Given the description of an element on the screen output the (x, y) to click on. 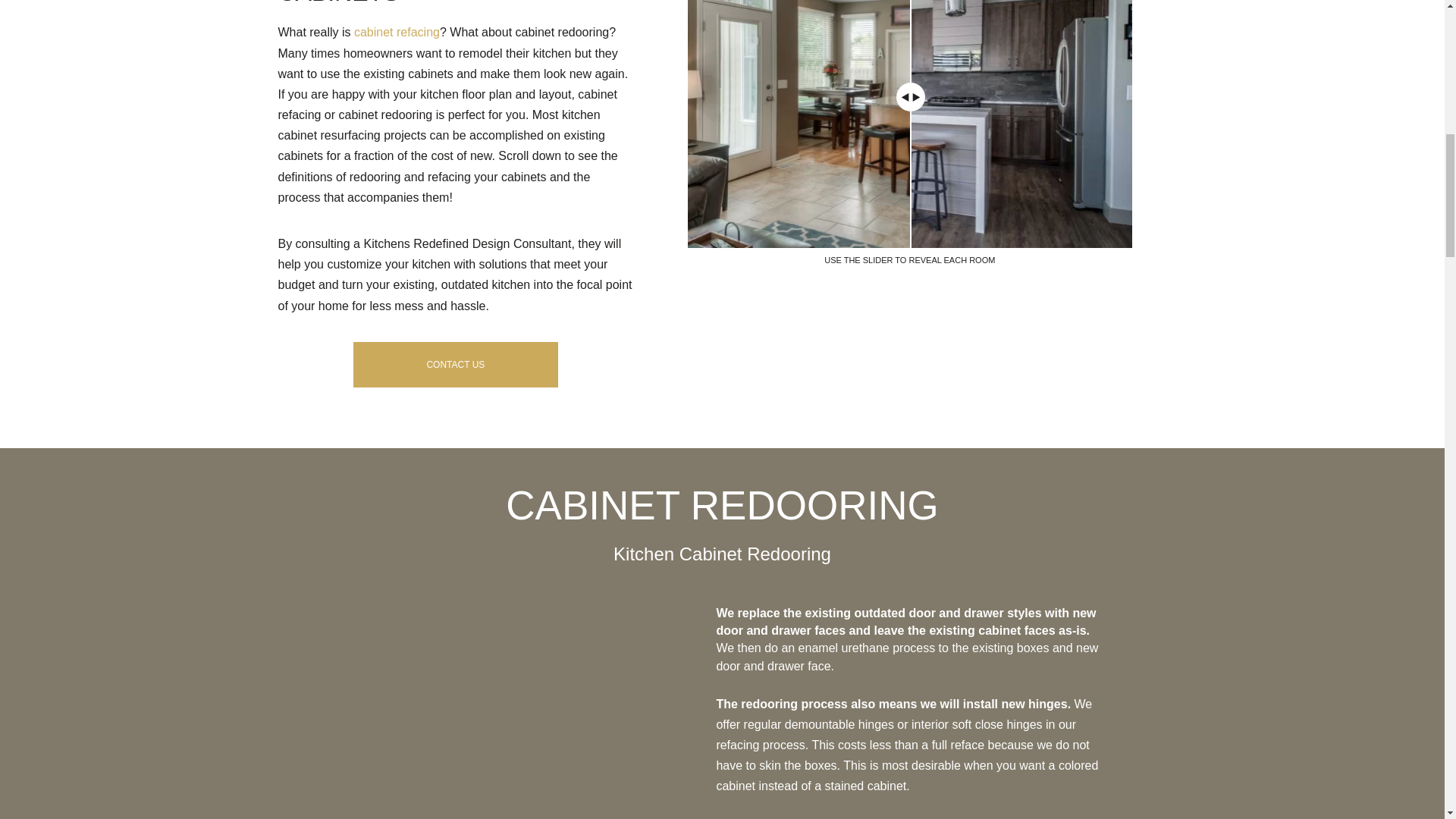
YouTube video player (488, 711)
